Given the description of an element on the screen output the (x, y) to click on. 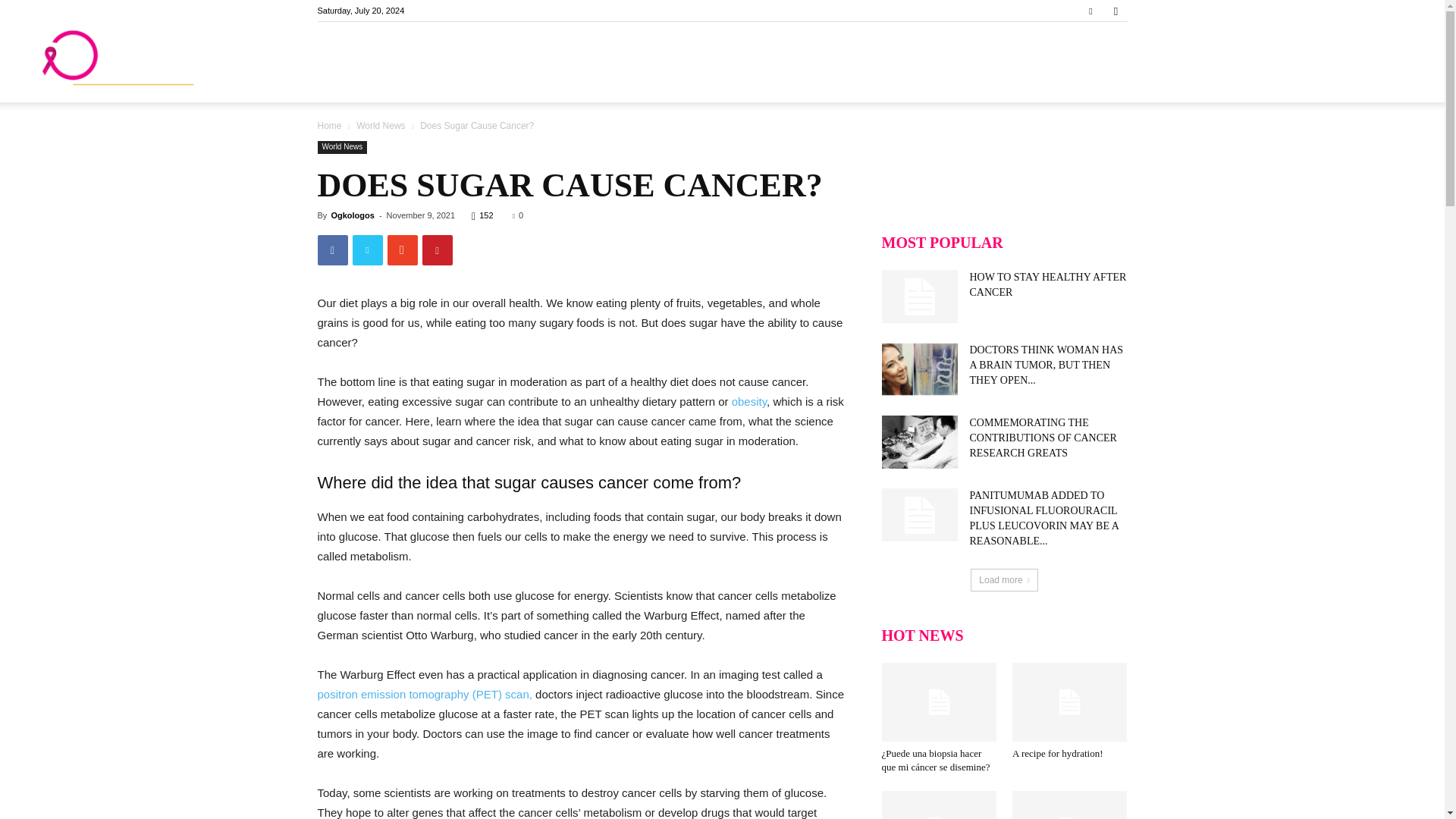
Facebook (1090, 10)
View all posts in World News (380, 125)
Instagram (1114, 10)
How to Stay Healthy After Cancer (918, 296)
How to Stay Healthy After Cancer (1047, 284)
